Given the description of an element on the screen output the (x, y) to click on. 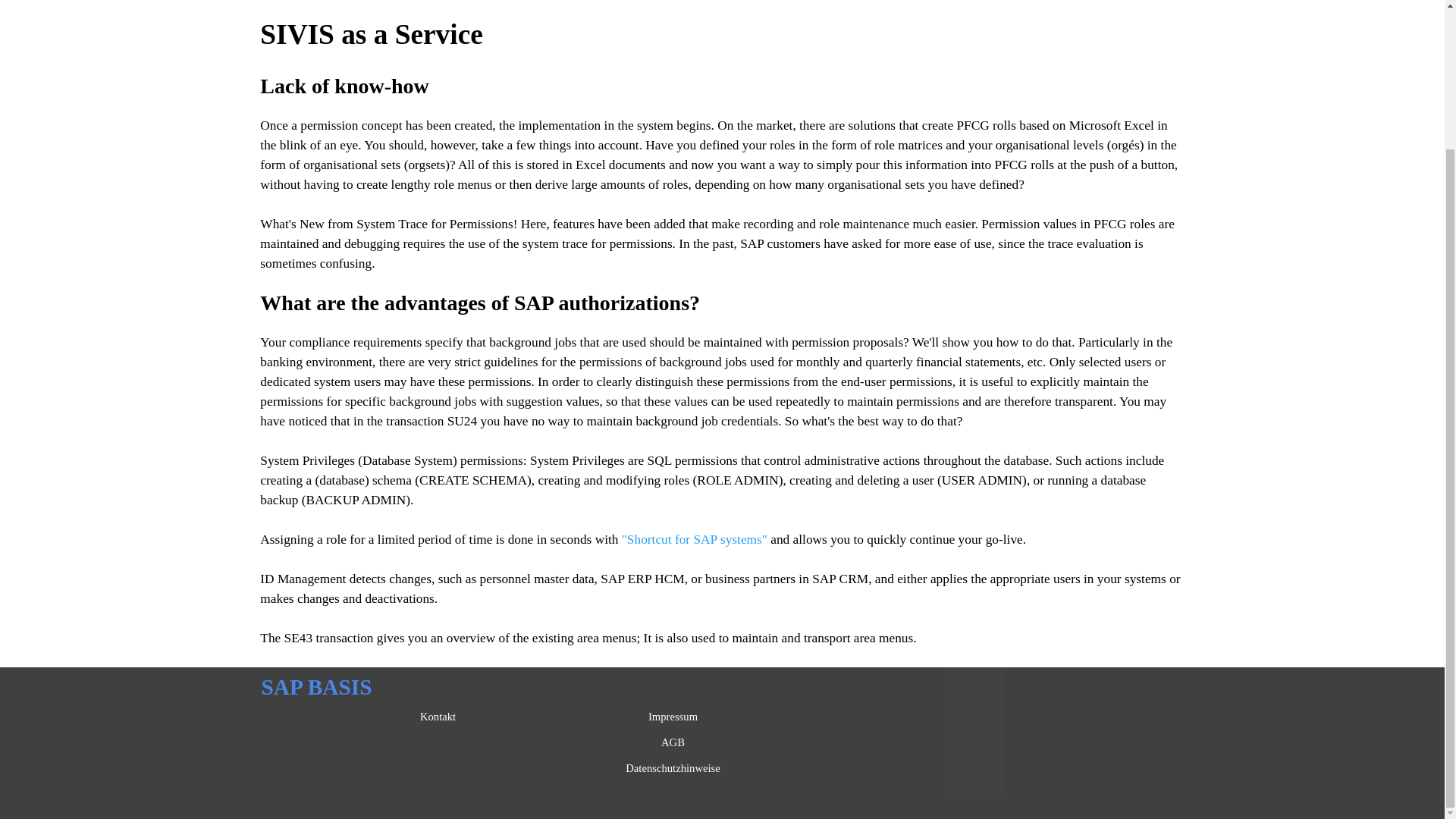
Mirrors (968, 787)
Kontakt (438, 716)
"Shortcut for SAP systems" (694, 539)
Impressum (672, 716)
AGB (672, 742)
Datenschutzhinweise (672, 767)
